Given the description of an element on the screen output the (x, y) to click on. 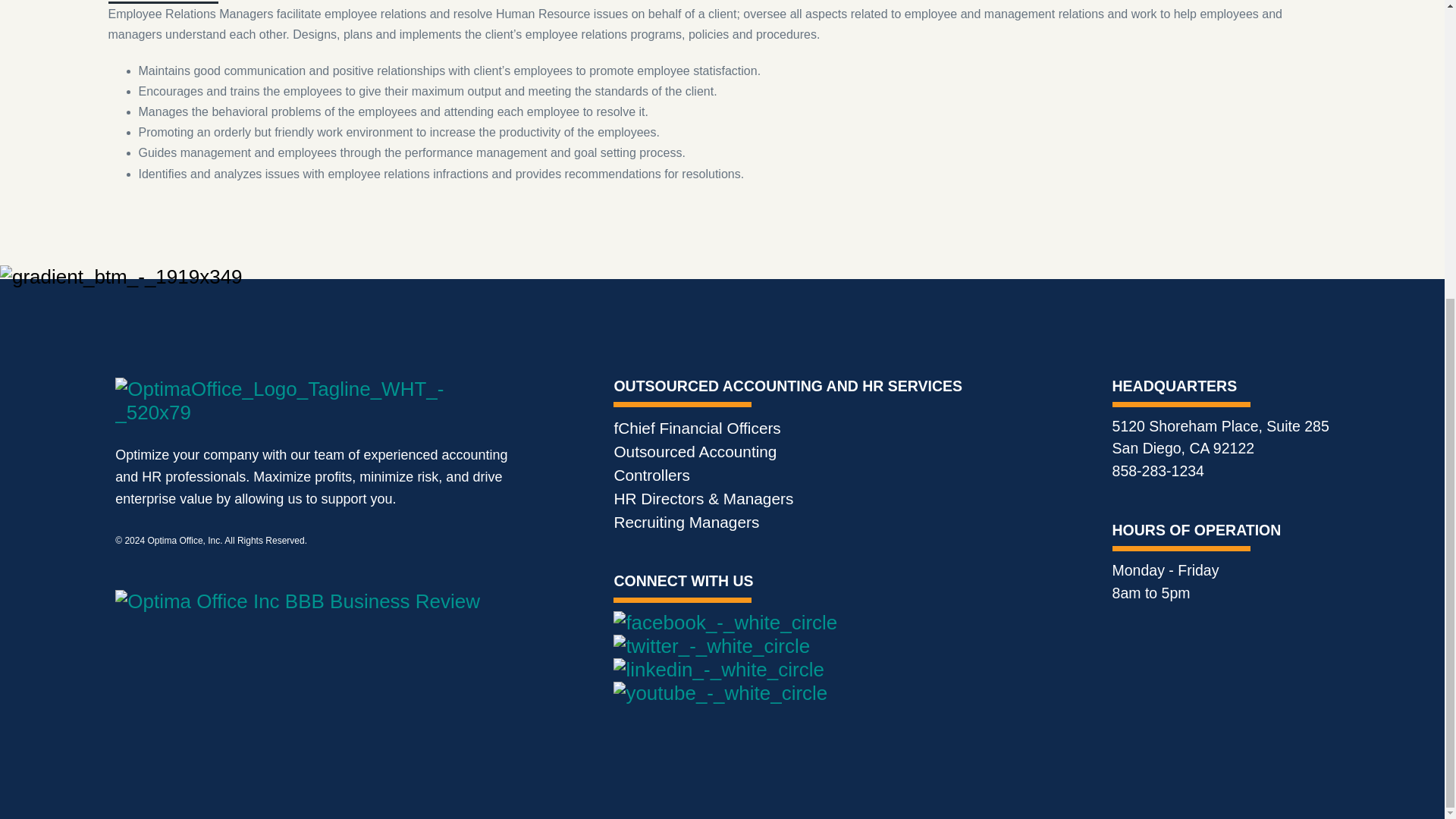
Controllers (651, 475)
fChief Financial Officers (696, 427)
Recruiting Managers (685, 521)
Outsourced Accounting (694, 451)
